Given the description of an element on the screen output the (x, y) to click on. 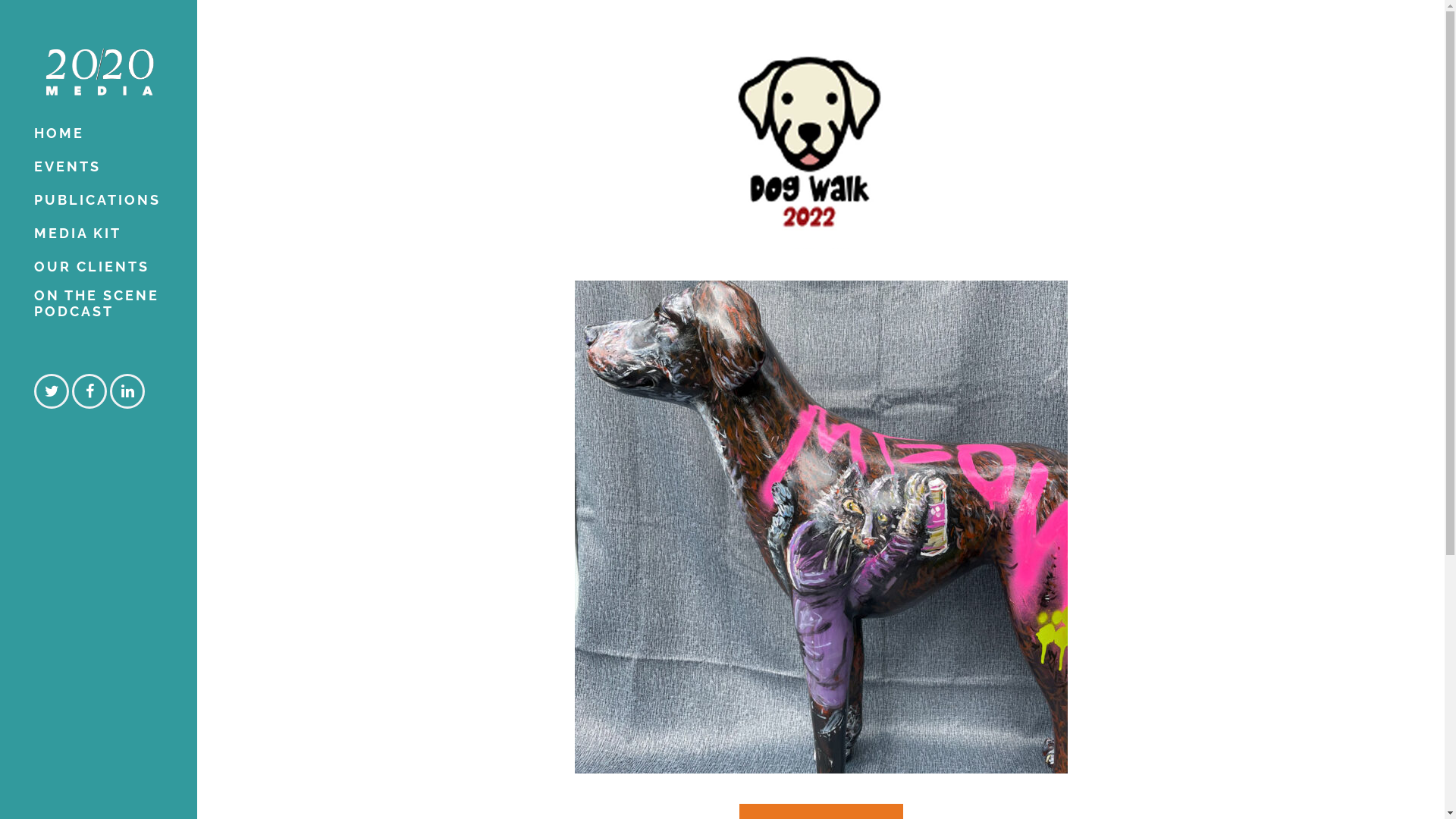
MEDIA KIT Element type: text (98, 233)
ON THE SCENE PODCAST Element type: text (98, 305)
HOME Element type: text (98, 133)
PUBLICATIONS Element type: text (98, 199)
ndog5 Element type: hover (820, 526)
OUR CLIENTS Element type: text (98, 266)
EVENTS Element type: text (98, 166)
